Given the description of an element on the screen output the (x, y) to click on. 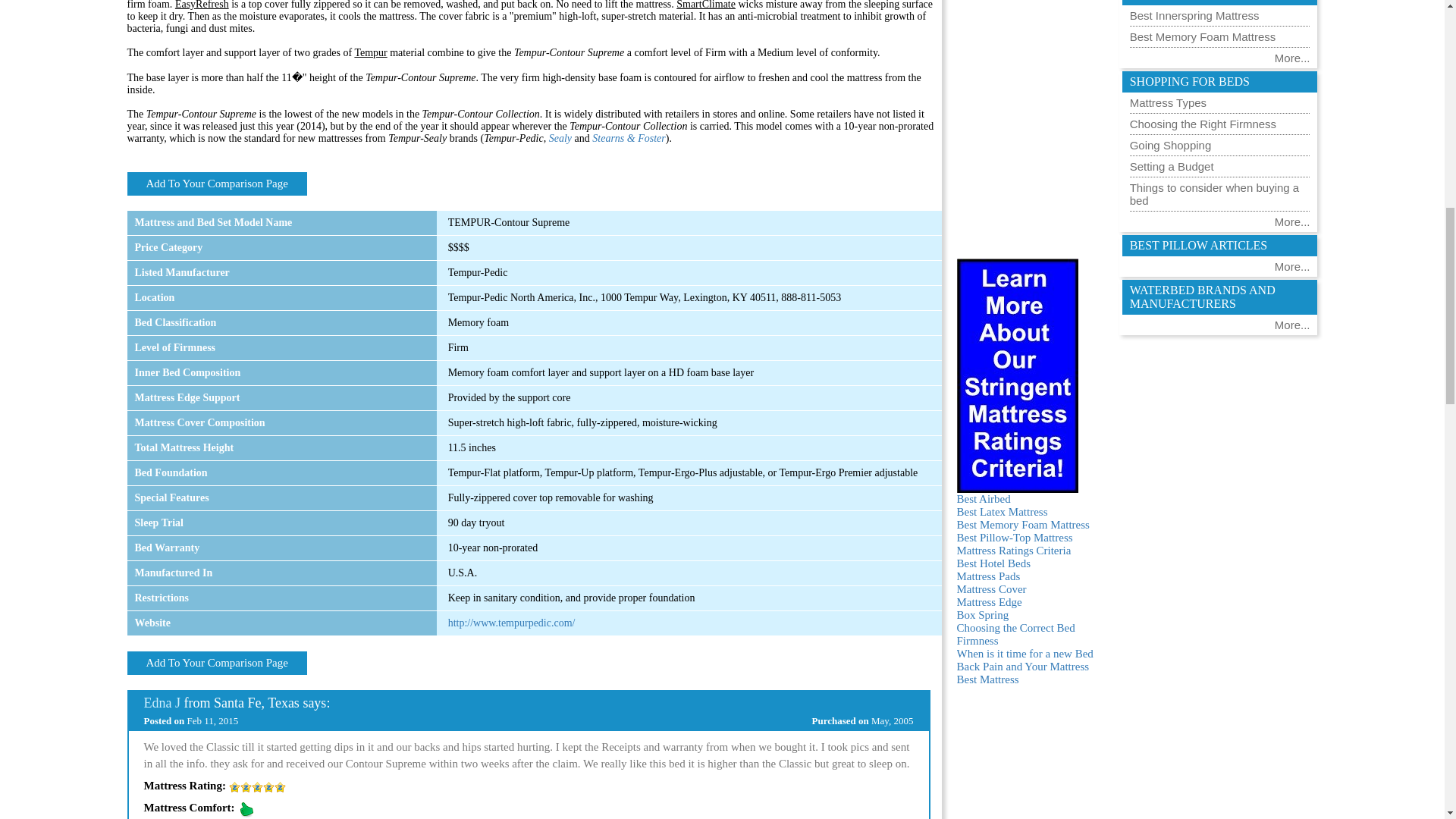
Click to view Edna J's profile (162, 702)
up (246, 809)
5 stars (256, 787)
